Given the description of an element on the screen output the (x, y) to click on. 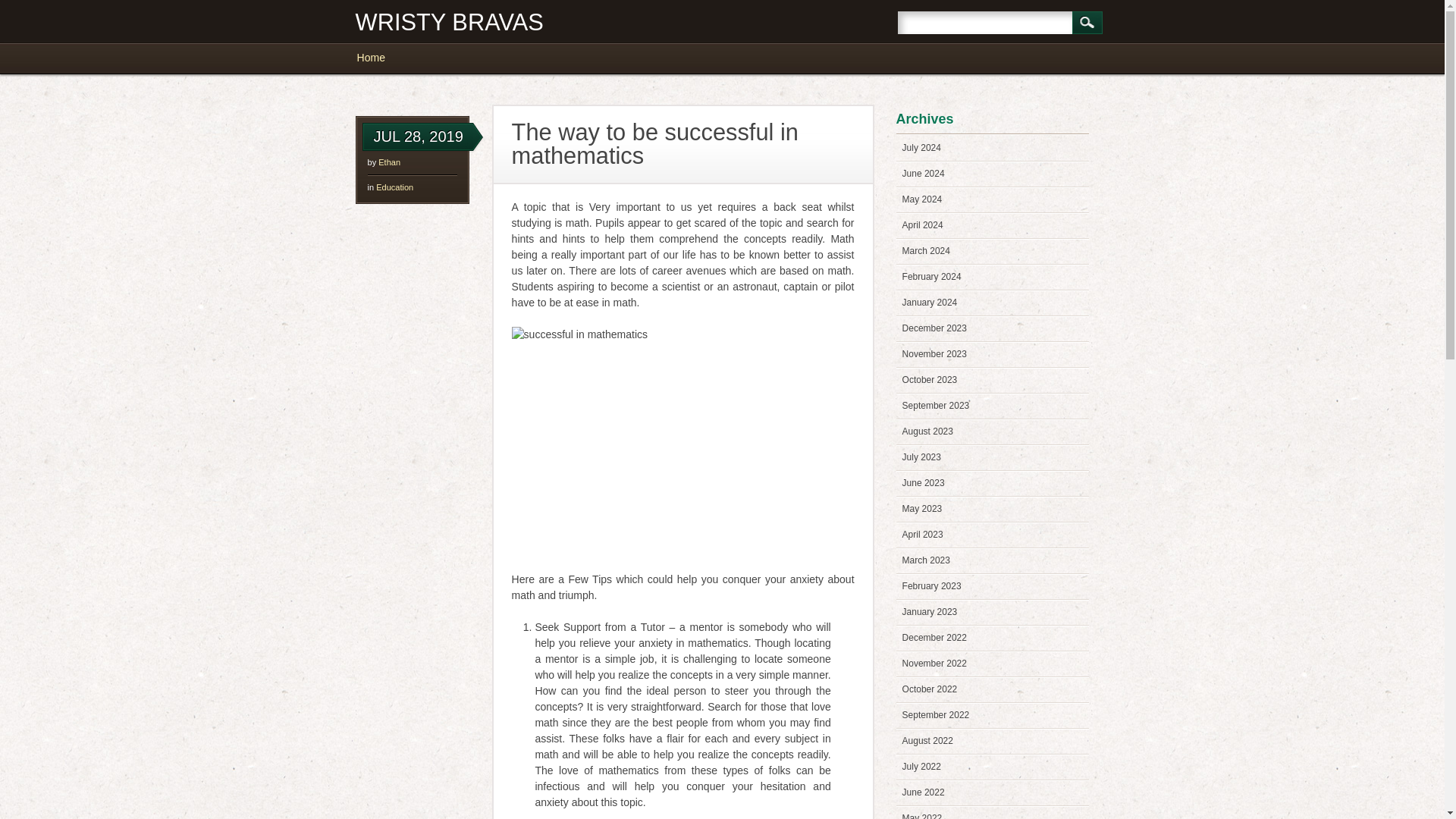
September 2023 (935, 405)
May 2024 (922, 199)
April 2023 (922, 534)
JUL 28, 2019 (418, 135)
October 2022 (930, 688)
June 2022 (923, 792)
March 2024 (926, 250)
November 2023 (934, 353)
Education (394, 186)
March 2023 (926, 560)
May 2023 (922, 508)
WRISTY BRAVAS (449, 22)
July 2023 (921, 457)
Search (1086, 22)
May 2022 (922, 816)
